Given the description of an element on the screen output the (x, y) to click on. 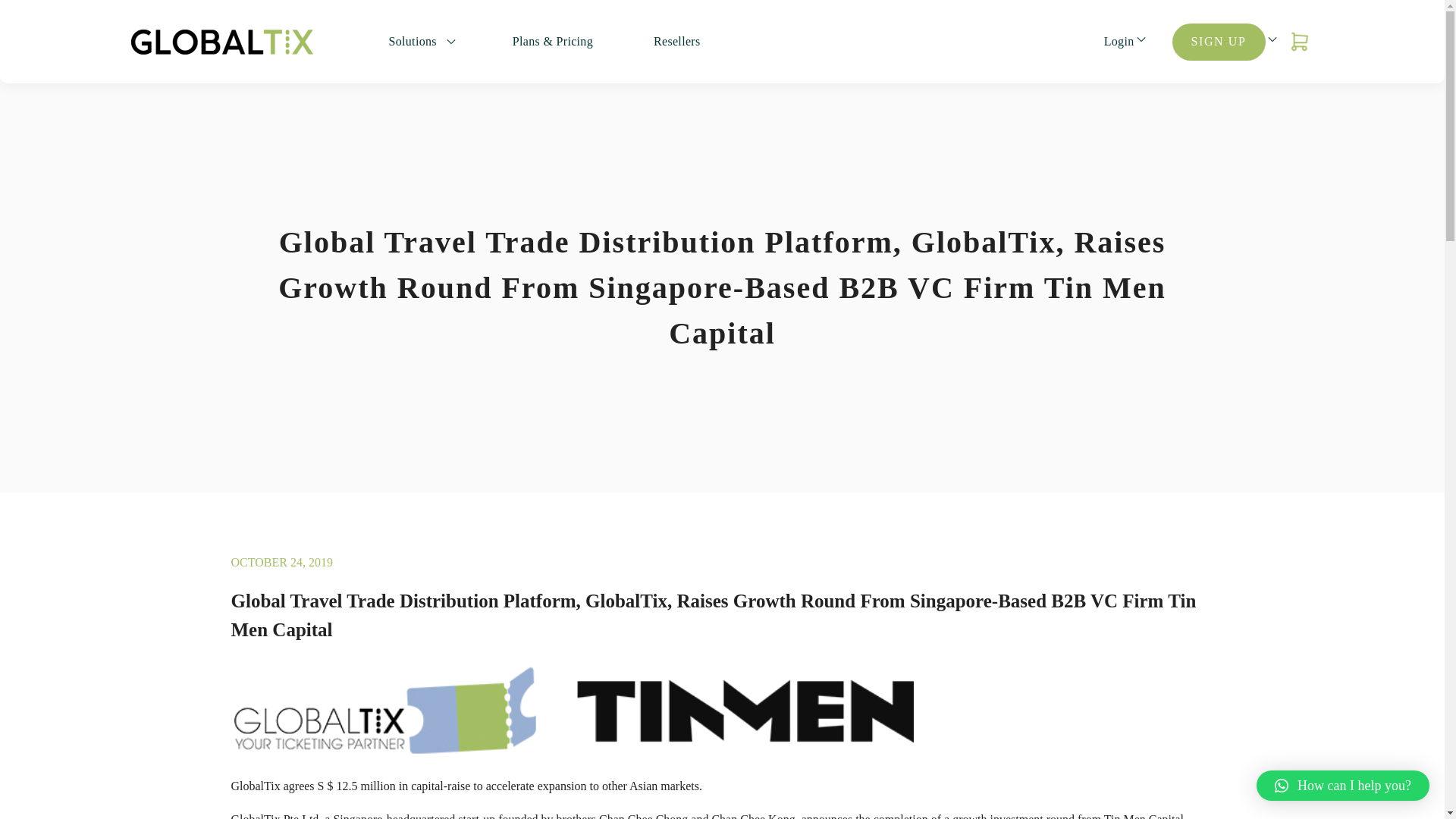
Solutions (411, 41)
Resellers (676, 41)
Login (1118, 41)
SIGN UP (1218, 40)
